Given the description of an element on the screen output the (x, y) to click on. 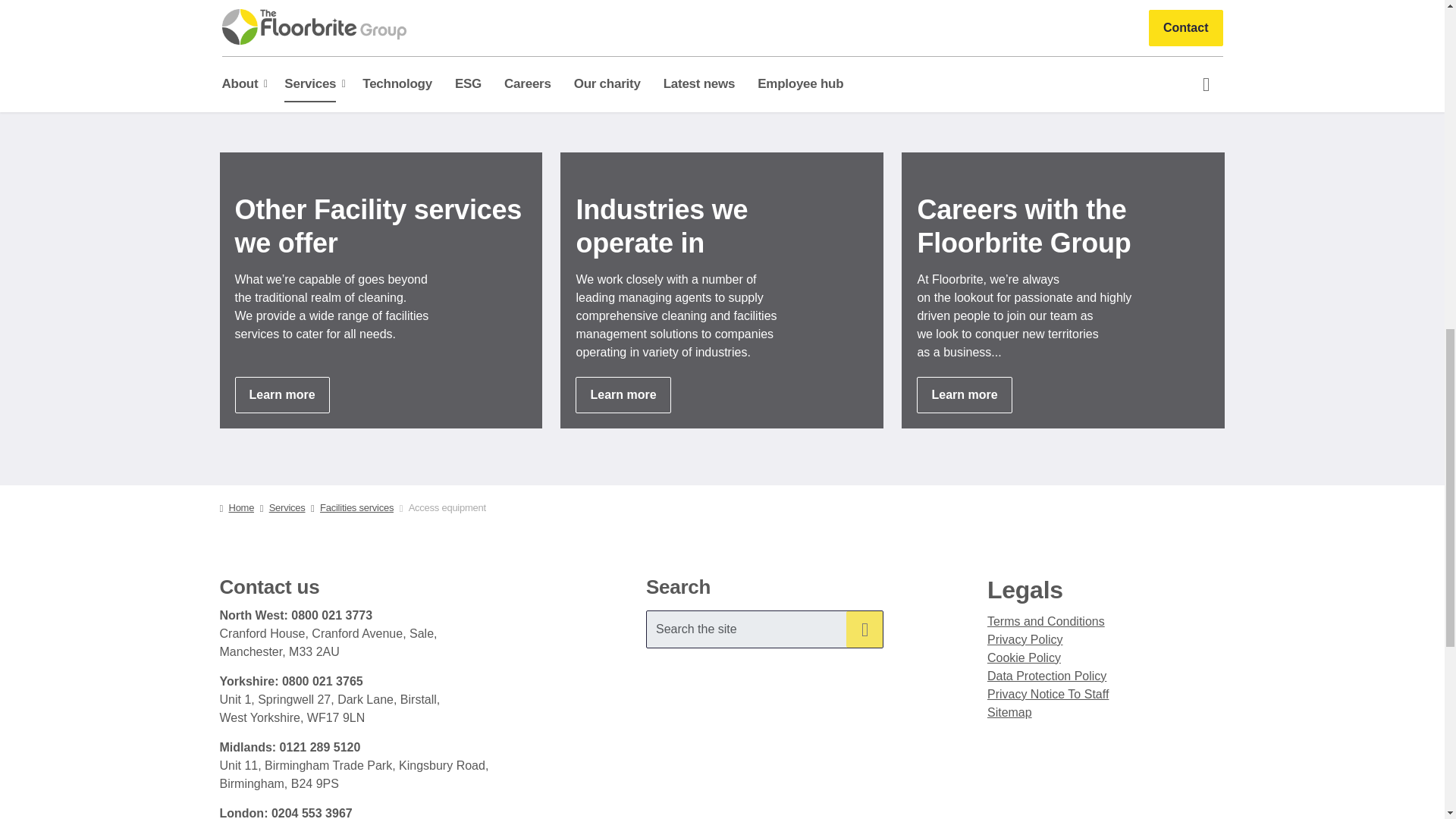
Industry sectors (622, 394)
Careers (964, 394)
Facilities services (282, 394)
